Given the description of an element on the screen output the (x, y) to click on. 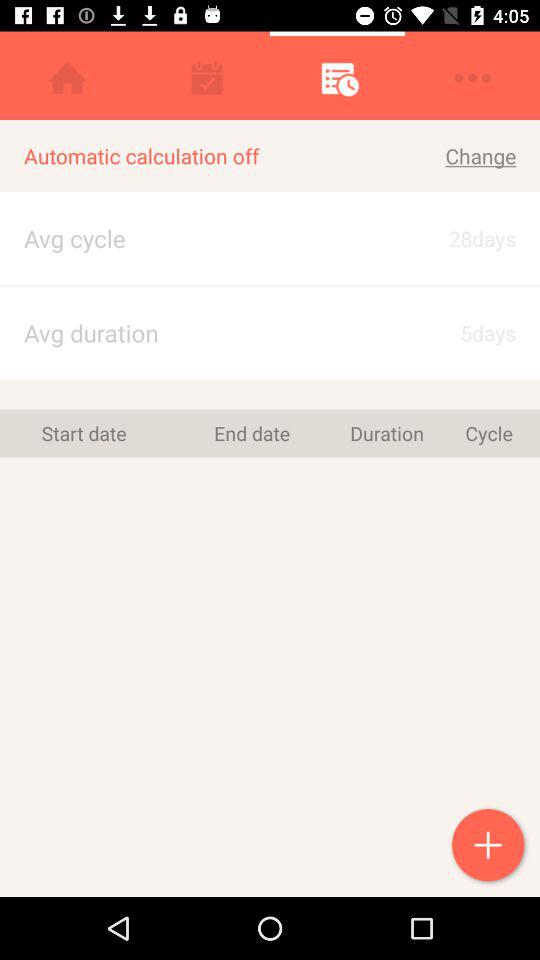
choose item next to the start date (252, 433)
